Given the description of an element on the screen output the (x, y) to click on. 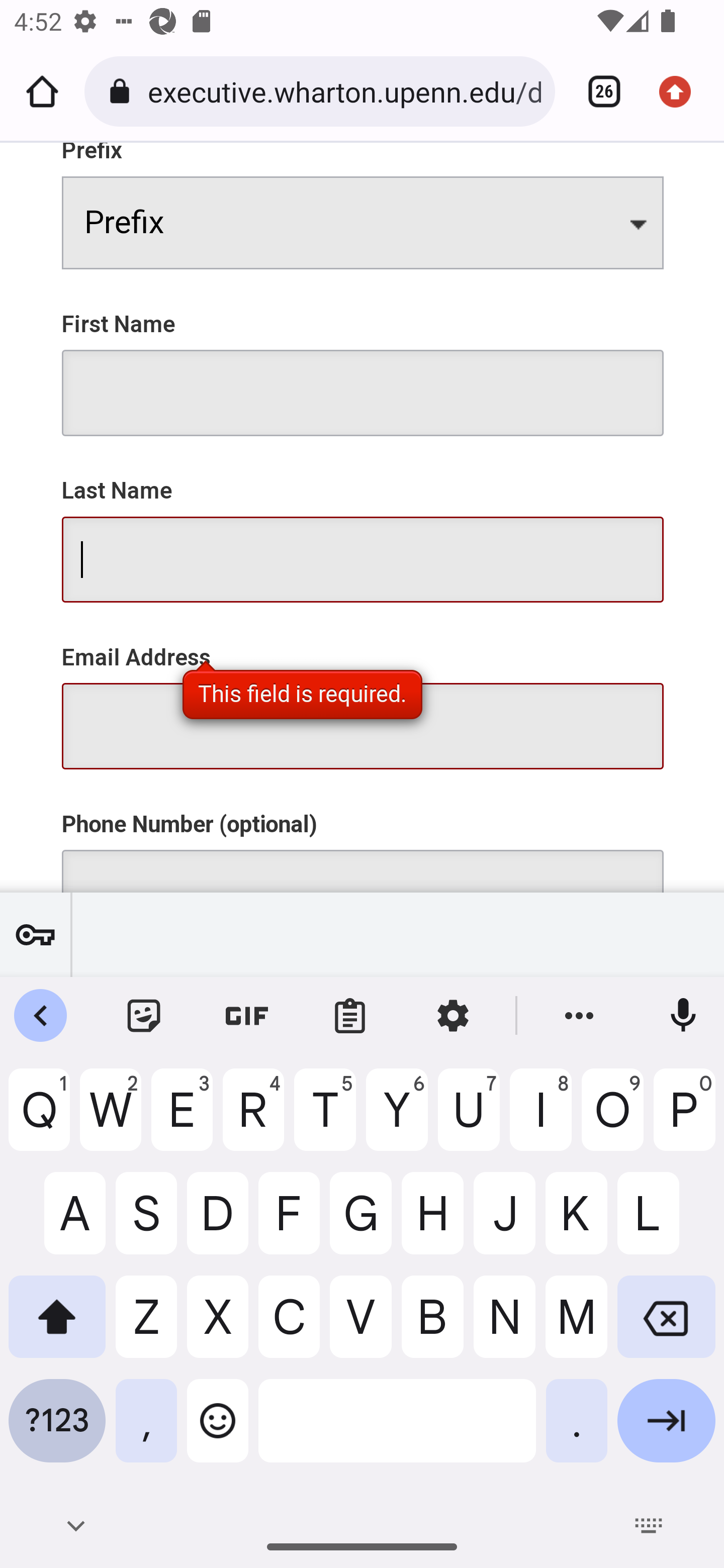
Home (42, 91)
Connection is secure (122, 91)
Switch or close tabs (597, 91)
Update available. More options (681, 91)
Prefix (362, 206)
Prefix (362, 223)
First Name (362, 361)
Last Name (362, 529)
Email Address (362, 694)
Phone Number (optional) (362, 839)
Show passwords (35, 934)
